Given the description of an element on the screen output the (x, y) to click on. 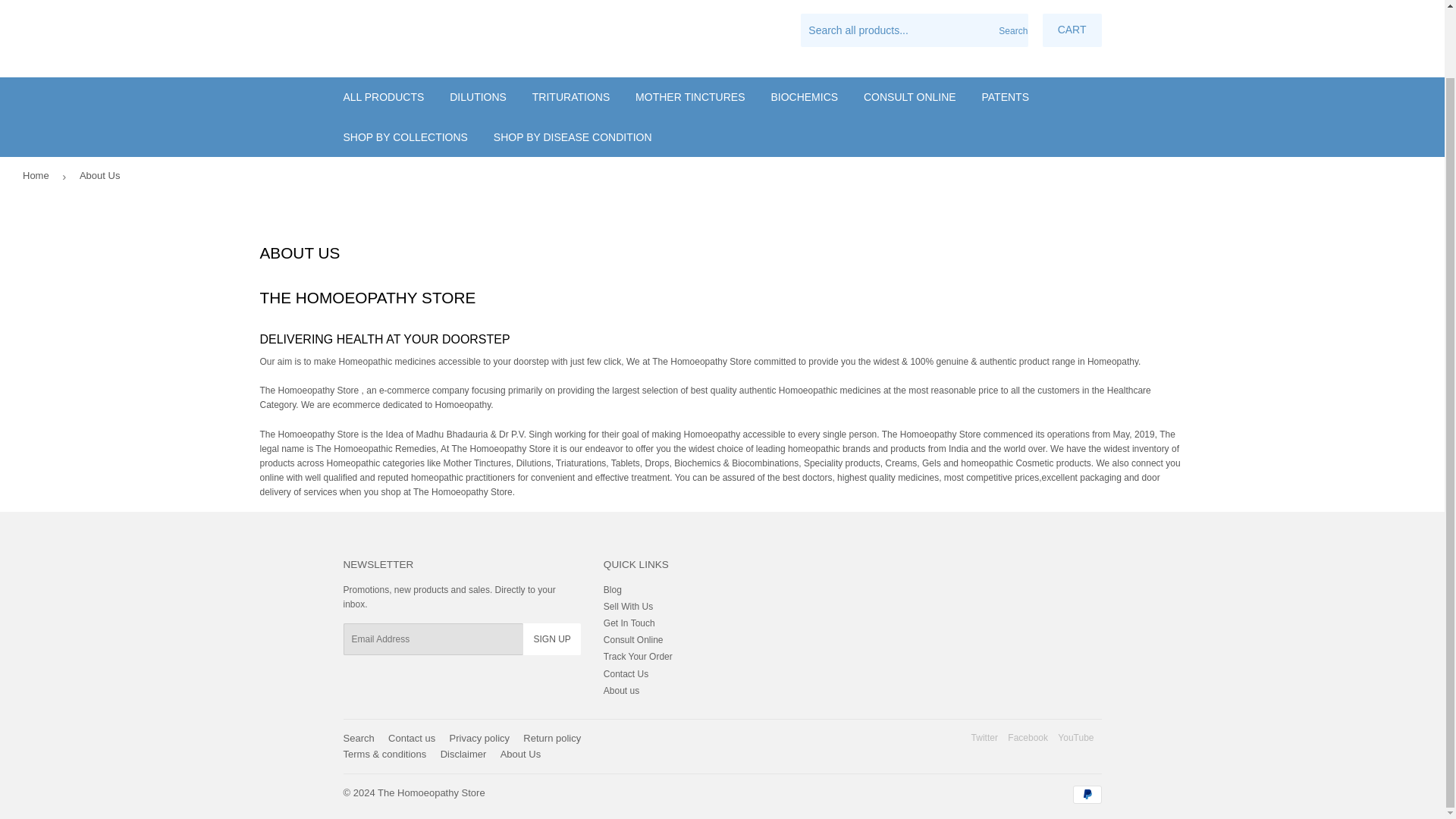
CART (1072, 29)
PayPal (1085, 794)
The Homoeopathy Store on Facebook (1027, 737)
The Homoeopathy Store on YouTube (1075, 737)
TRITURATIONS (571, 96)
Search (1010, 30)
CONSULT ONLINE (909, 96)
MOTHER TINCTURES (689, 96)
BIOCHEMICS (803, 96)
ALL PRODUCTS (383, 96)
